Given the description of an element on the screen output the (x, y) to click on. 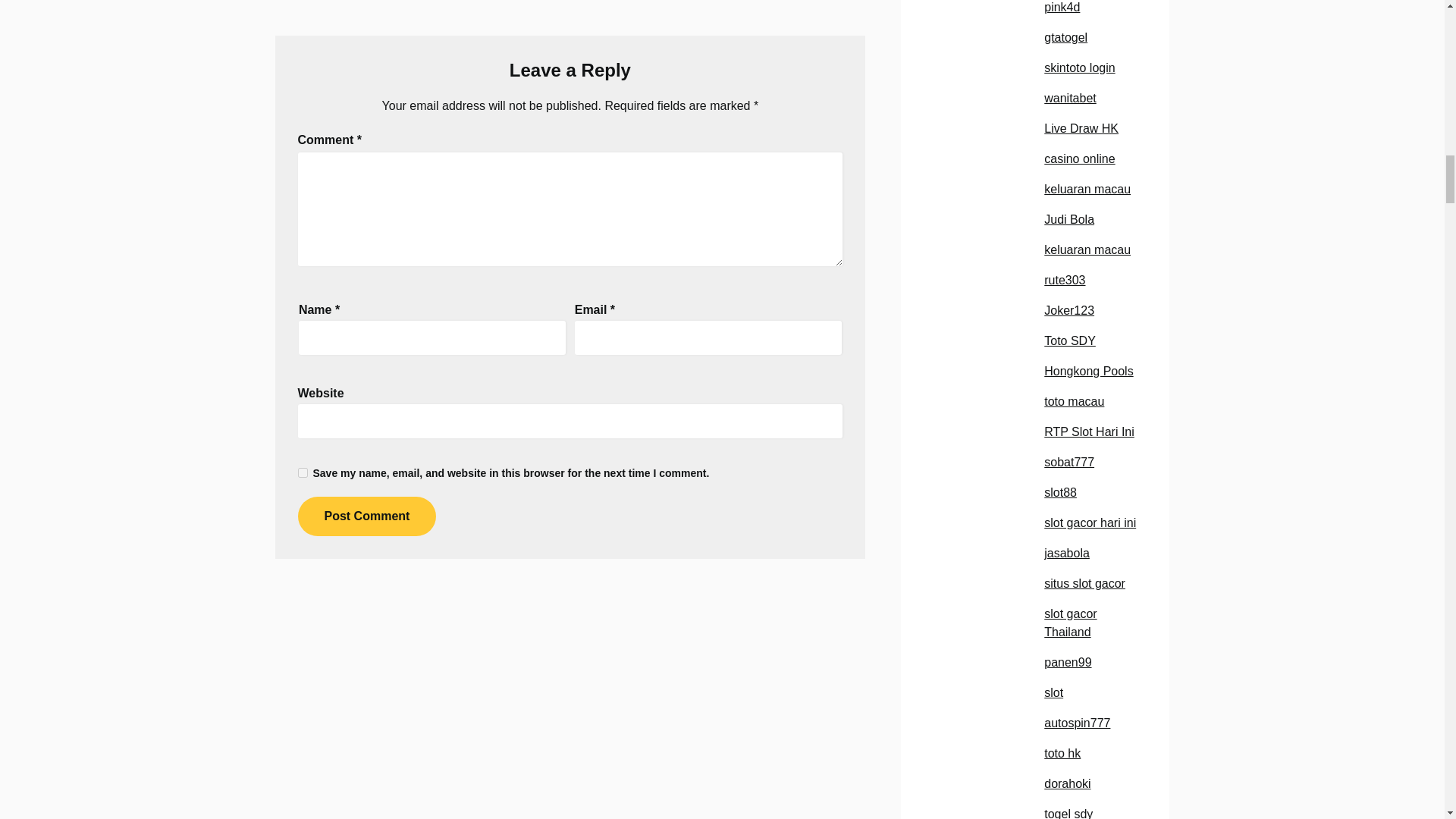
yes (302, 472)
Post Comment (366, 516)
Post Comment (366, 516)
